Given the description of an element on the screen output the (x, y) to click on. 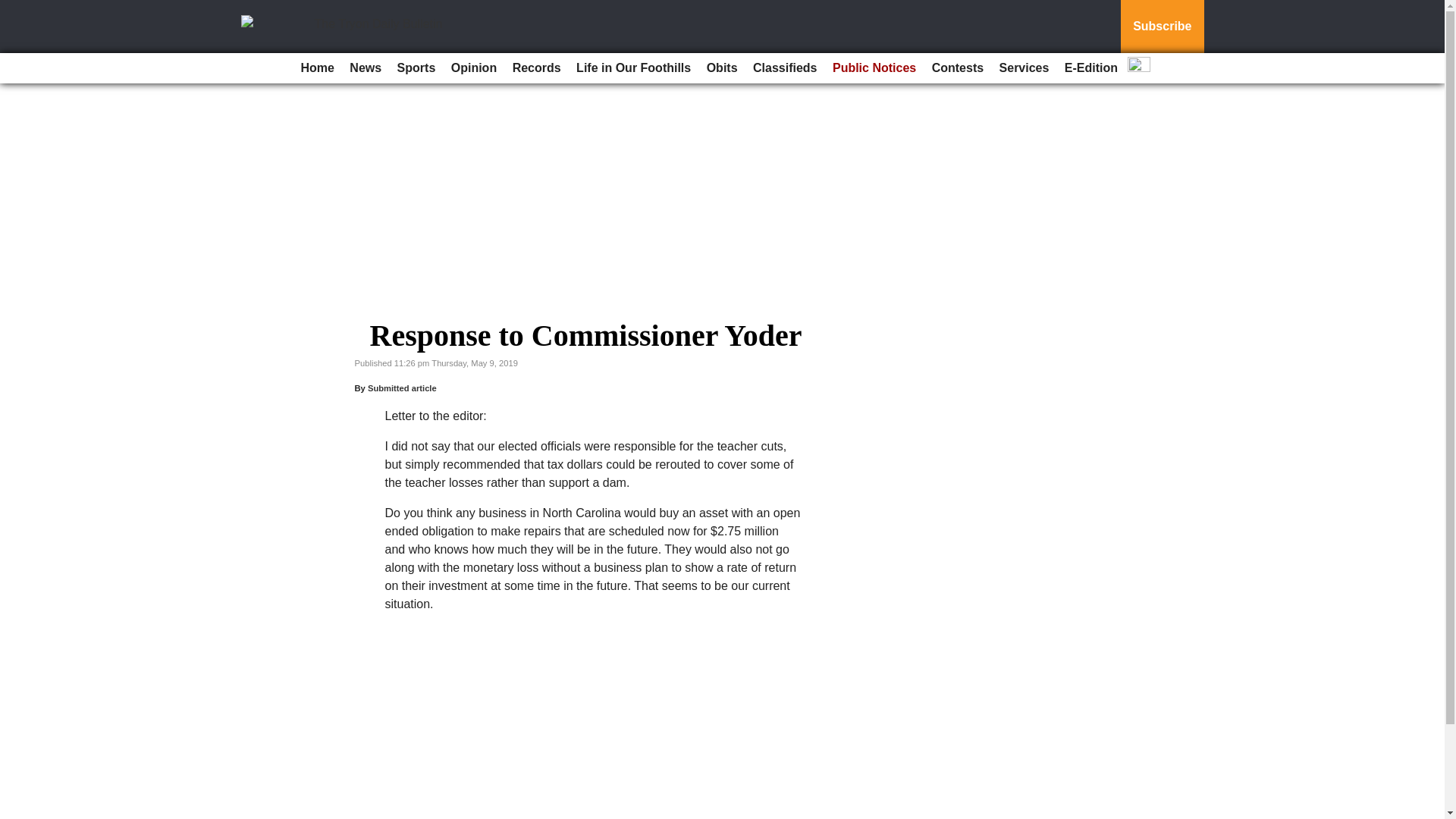
Contests (958, 68)
Submitted article (402, 388)
Records (536, 68)
Go (13, 9)
Public Notices (874, 68)
Home (316, 68)
Classifieds (784, 68)
Opinion (473, 68)
Subscribe (1162, 26)
Life in Our Foothills (633, 68)
